Given the description of an element on the screen output the (x, y) to click on. 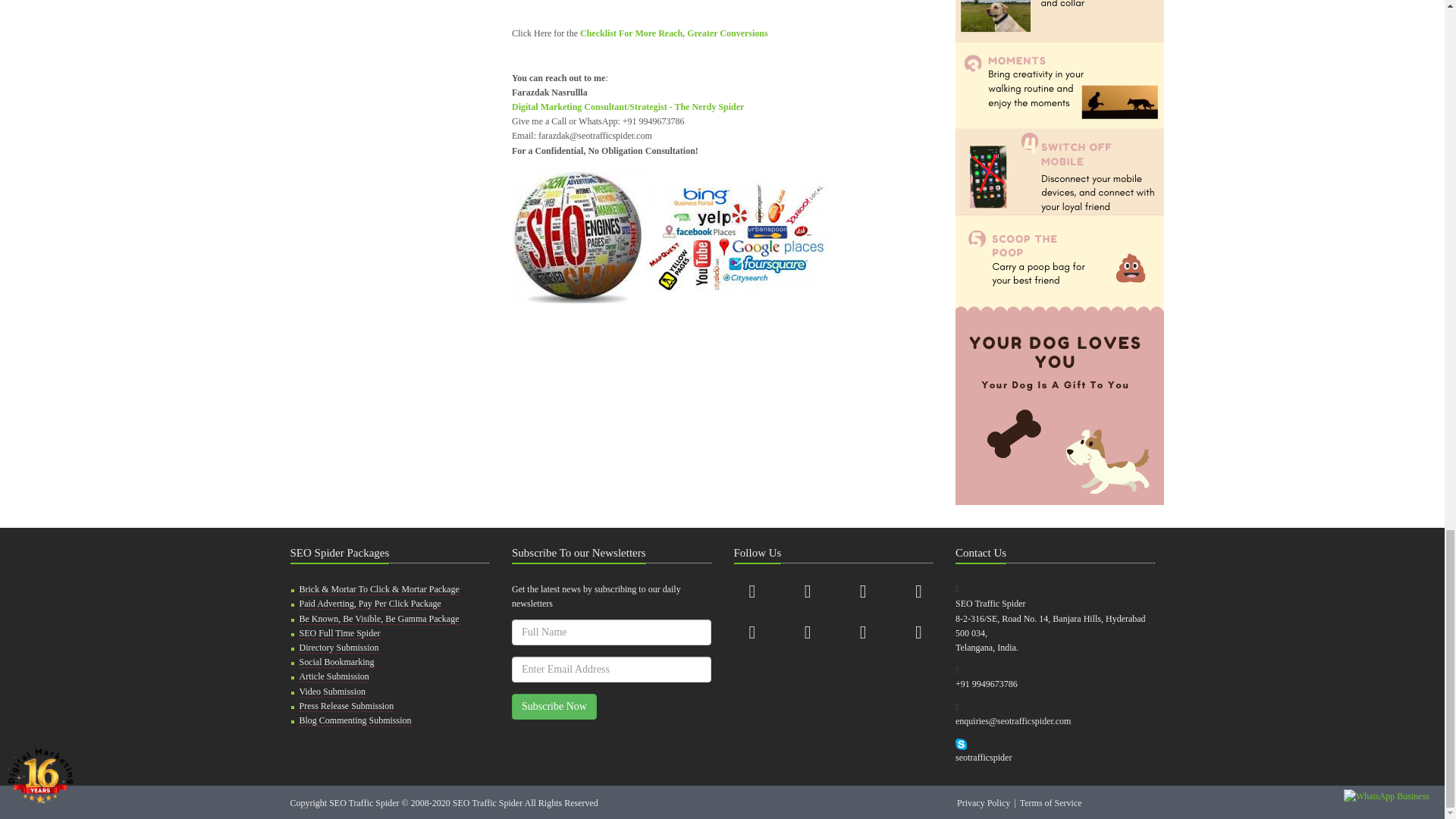
Checklist For More Reach, Greater Conversions (673, 32)
